Given the description of an element on the screen output the (x, y) to click on. 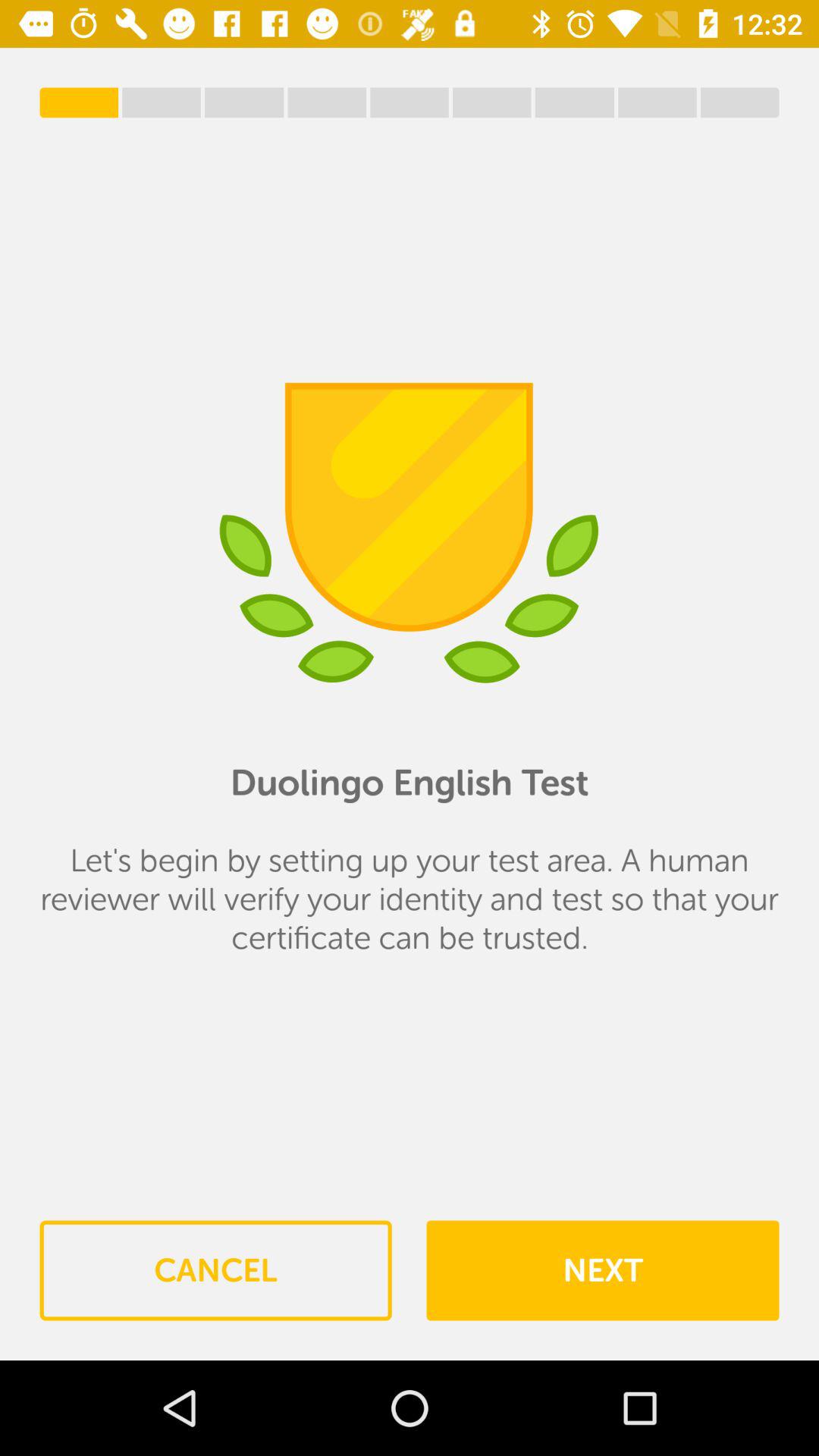
press the item to the left of the next item (215, 1270)
